Given the description of an element on the screen output the (x, y) to click on. 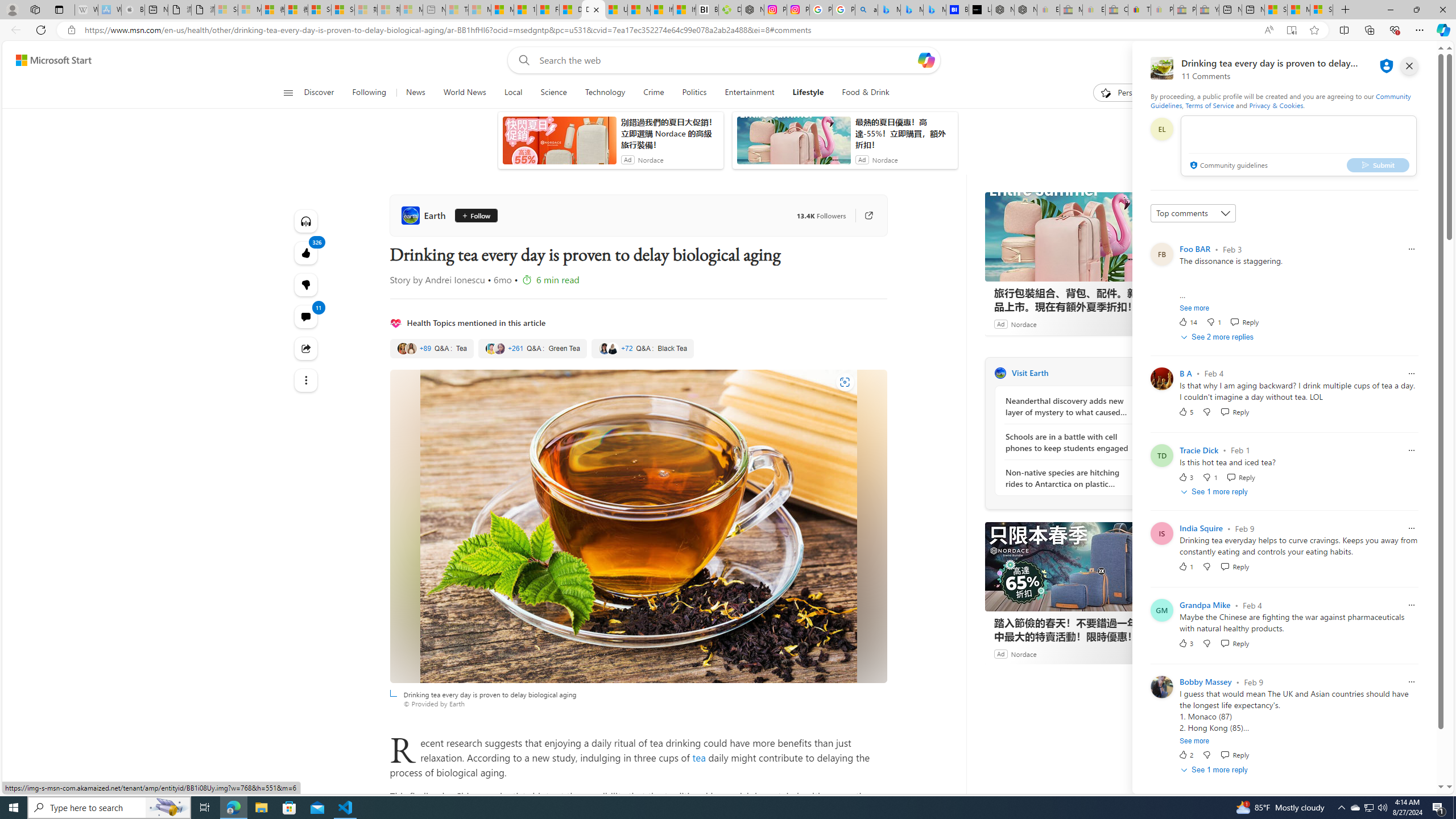
Earth (1000, 372)
Notifications (1397, 60)
News (414, 92)
alabama high school quarterback dies - Search (866, 9)
Following (370, 92)
Browser essentials (1394, 29)
Bobby Massey (1205, 681)
Back (13, 29)
Community guidelines (1228, 165)
Crime (653, 92)
Visit Earth website (1140, 372)
Ad Choice (1142, 653)
New Tab (1346, 9)
